Given the description of an element on the screen output the (x, y) to click on. 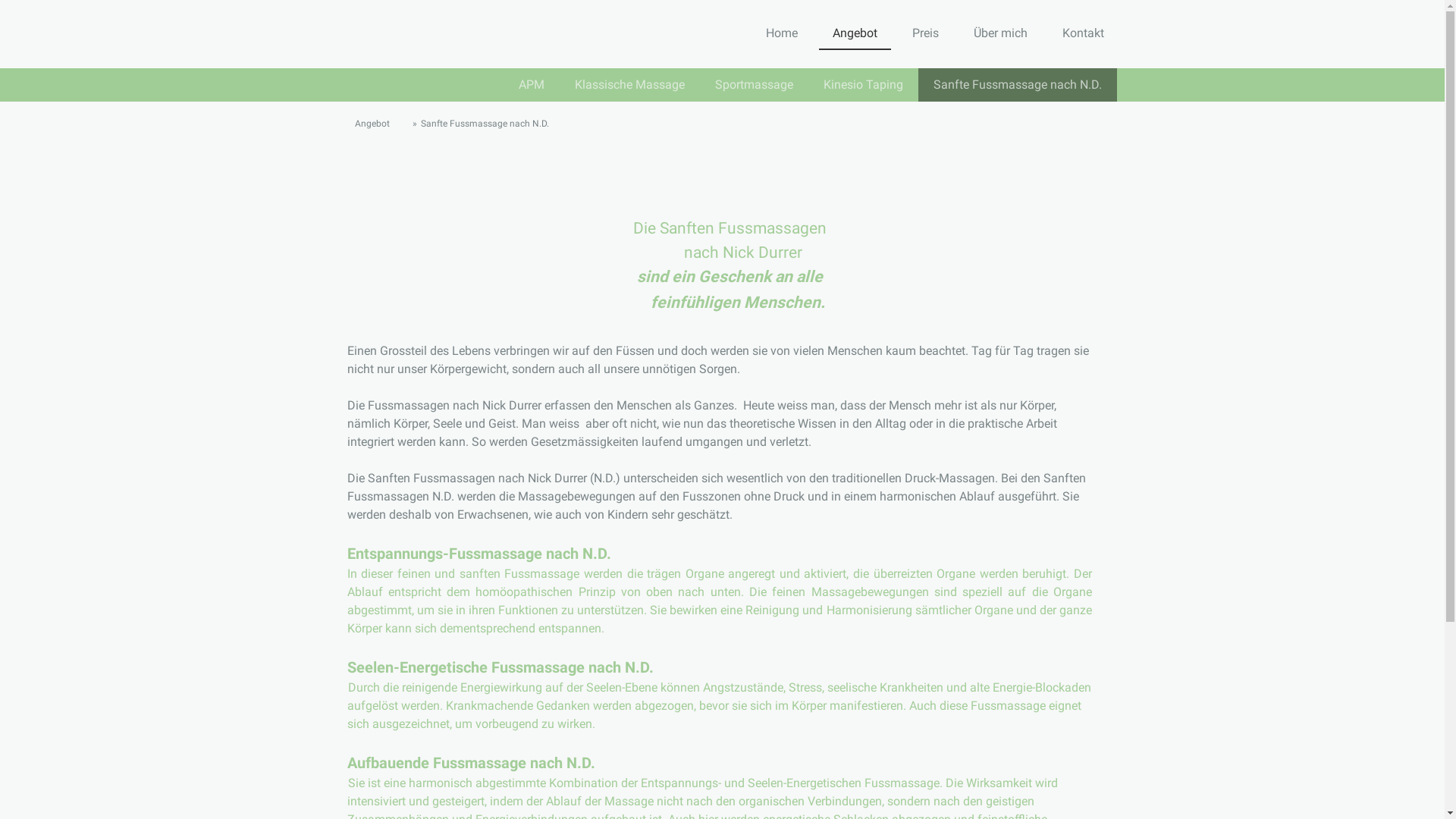
Sanfte Fussmassage nach N.D. Element type: text (480, 123)
Kontakt Element type: text (1082, 34)
Preis Element type: text (924, 34)
Kinesio Taping Element type: text (863, 84)
Home Element type: text (781, 34)
Sportmassage Element type: text (753, 84)
Angebot Element type: text (369, 123)
APM Element type: text (531, 84)
Sanfte Fussmassage nach N.D. Element type: text (1016, 84)
Angebot Element type: text (855, 34)
Klassische Massage Element type: text (629, 84)
